Given the description of an element on the screen output the (x, y) to click on. 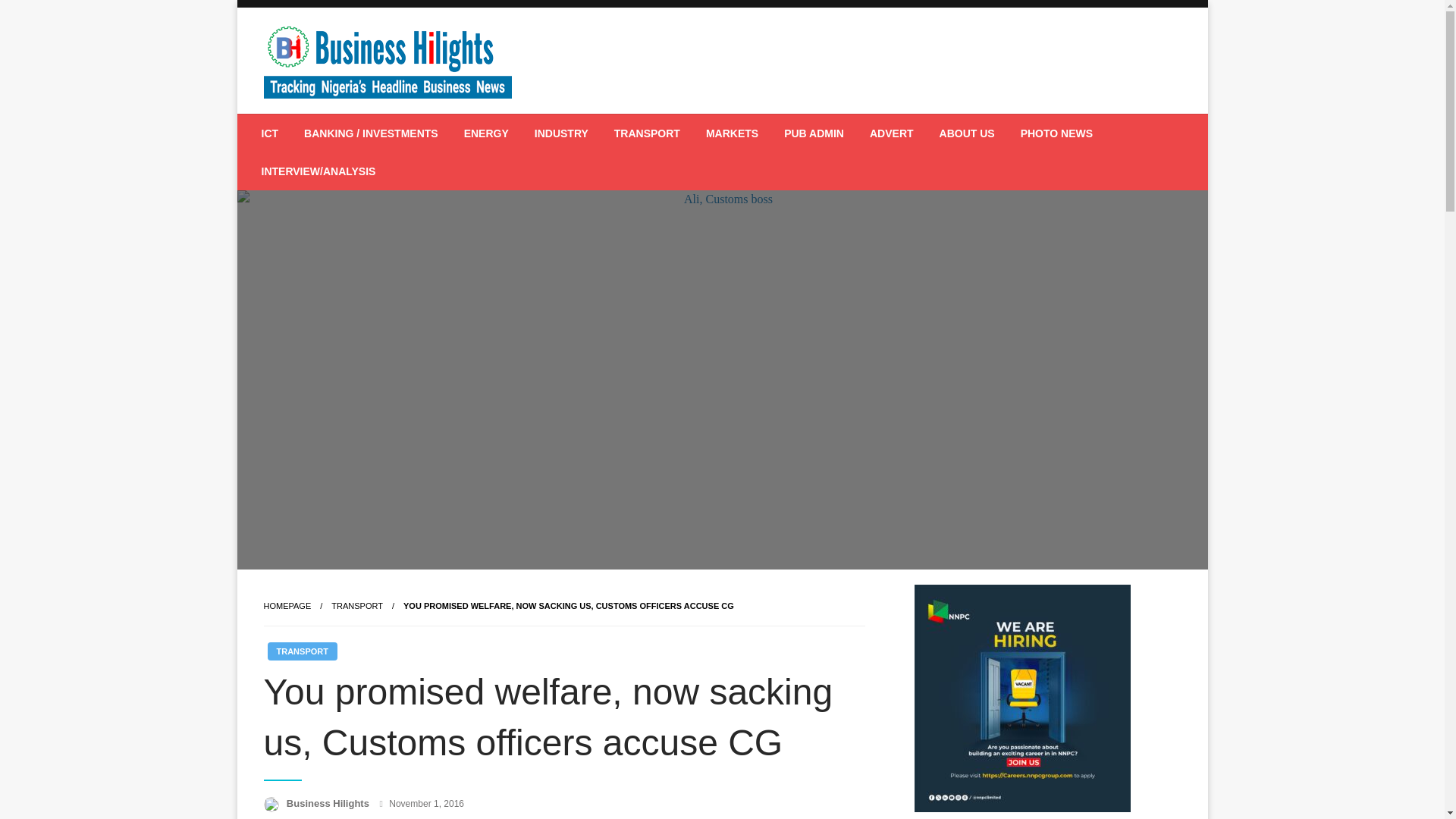
INDUSTRY (561, 133)
Business Hilights (379, 125)
Business Hilights (329, 803)
Homepage (287, 605)
MARKETS (732, 133)
ICT (270, 133)
TRANSPORT (301, 651)
ABOUT US (966, 133)
ENERGY (486, 133)
PUB ADMIN (814, 133)
